Given the description of an element on the screen output the (x, y) to click on. 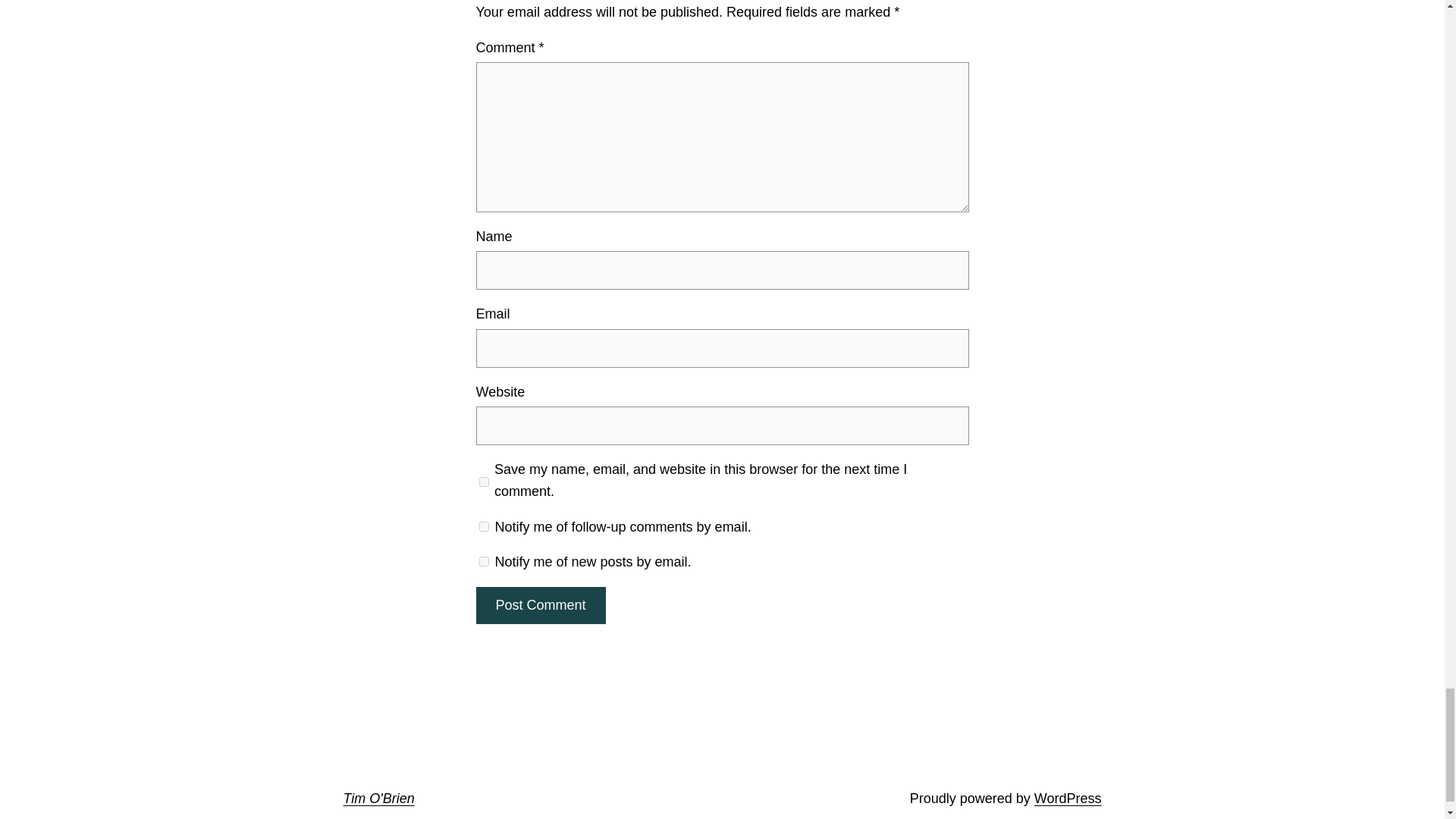
subscribe (484, 526)
subscribe (484, 561)
Post Comment (540, 605)
